Given the description of an element on the screen output the (x, y) to click on. 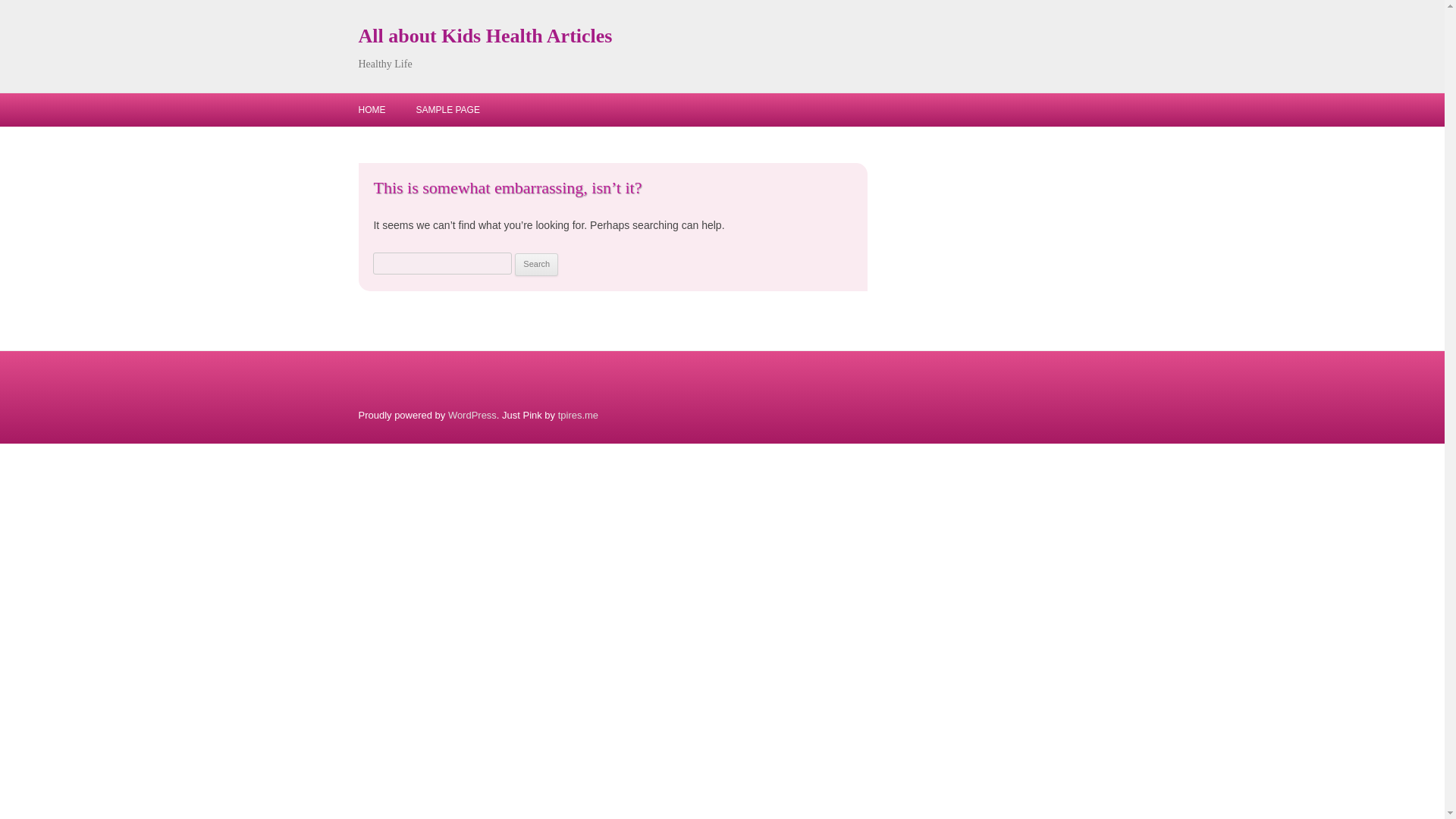
Search (536, 264)
Search (536, 264)
Semantic Personal Publishing Platform (472, 414)
SAMPLE PAGE (446, 109)
WordPress (472, 414)
All about Kids Health Articles (484, 36)
All about Kids Health Articles (484, 36)
tpires.me (577, 414)
